Given the description of an element on the screen output the (x, y) to click on. 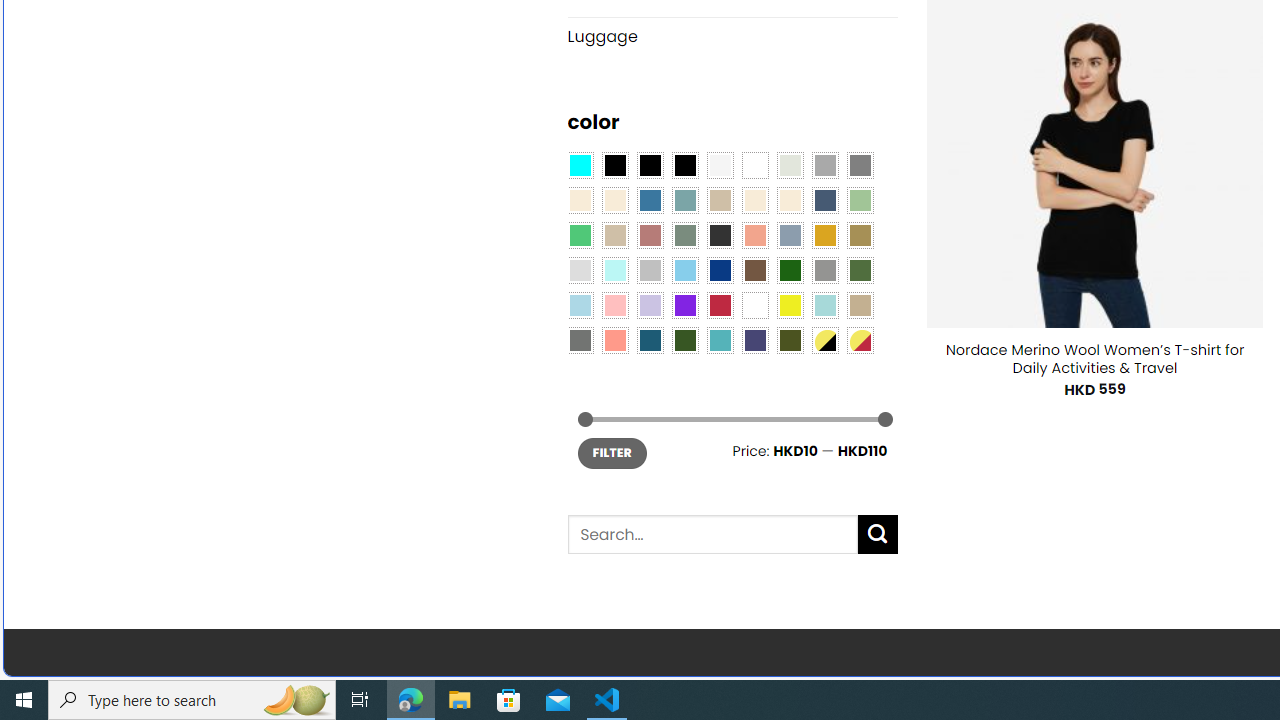
Emerald Green (579, 234)
